Given the description of an element on the screen output the (x, y) to click on. 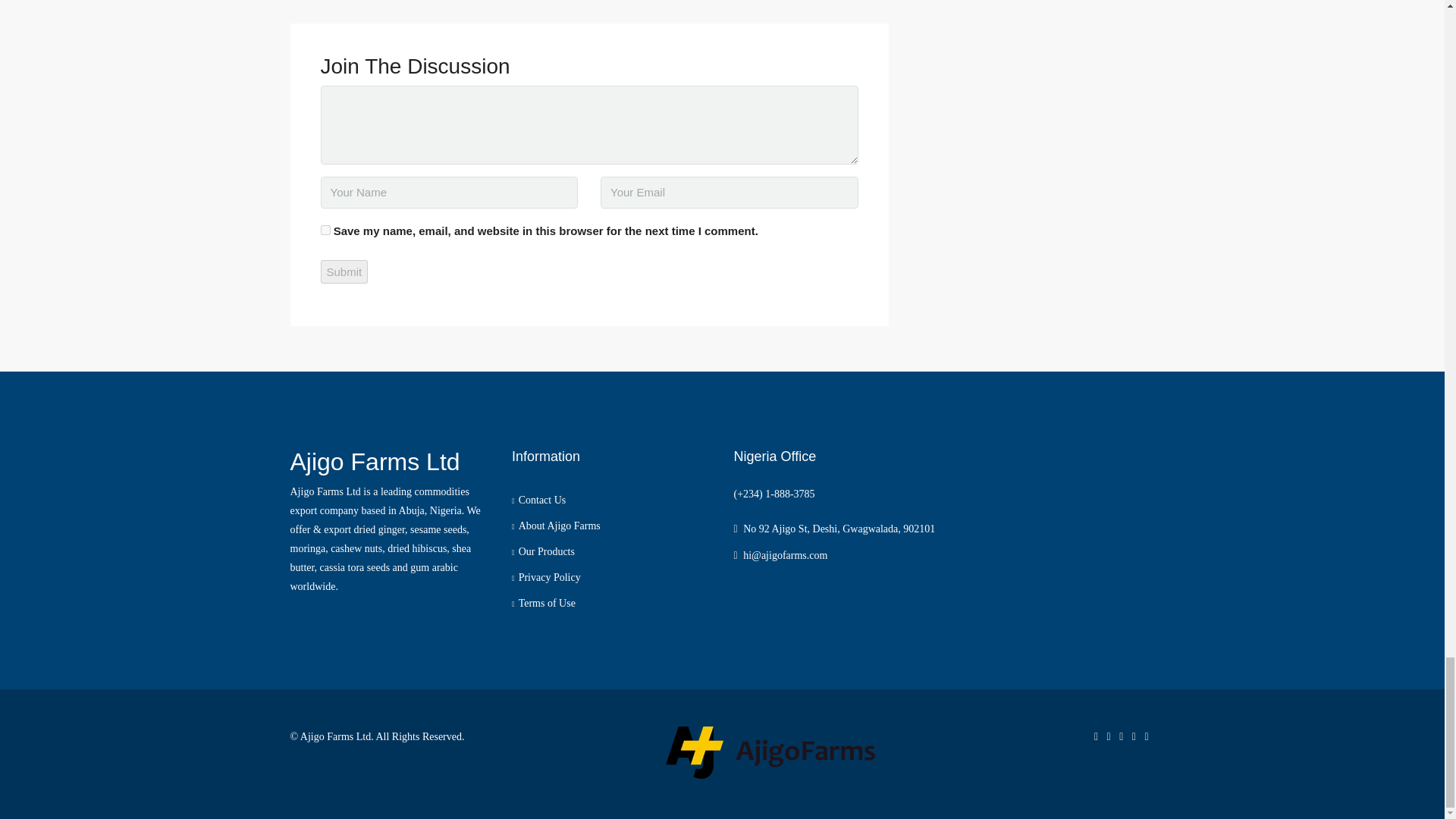
Submit (344, 271)
yes (325, 230)
